Given the description of an element on the screen output the (x, y) to click on. 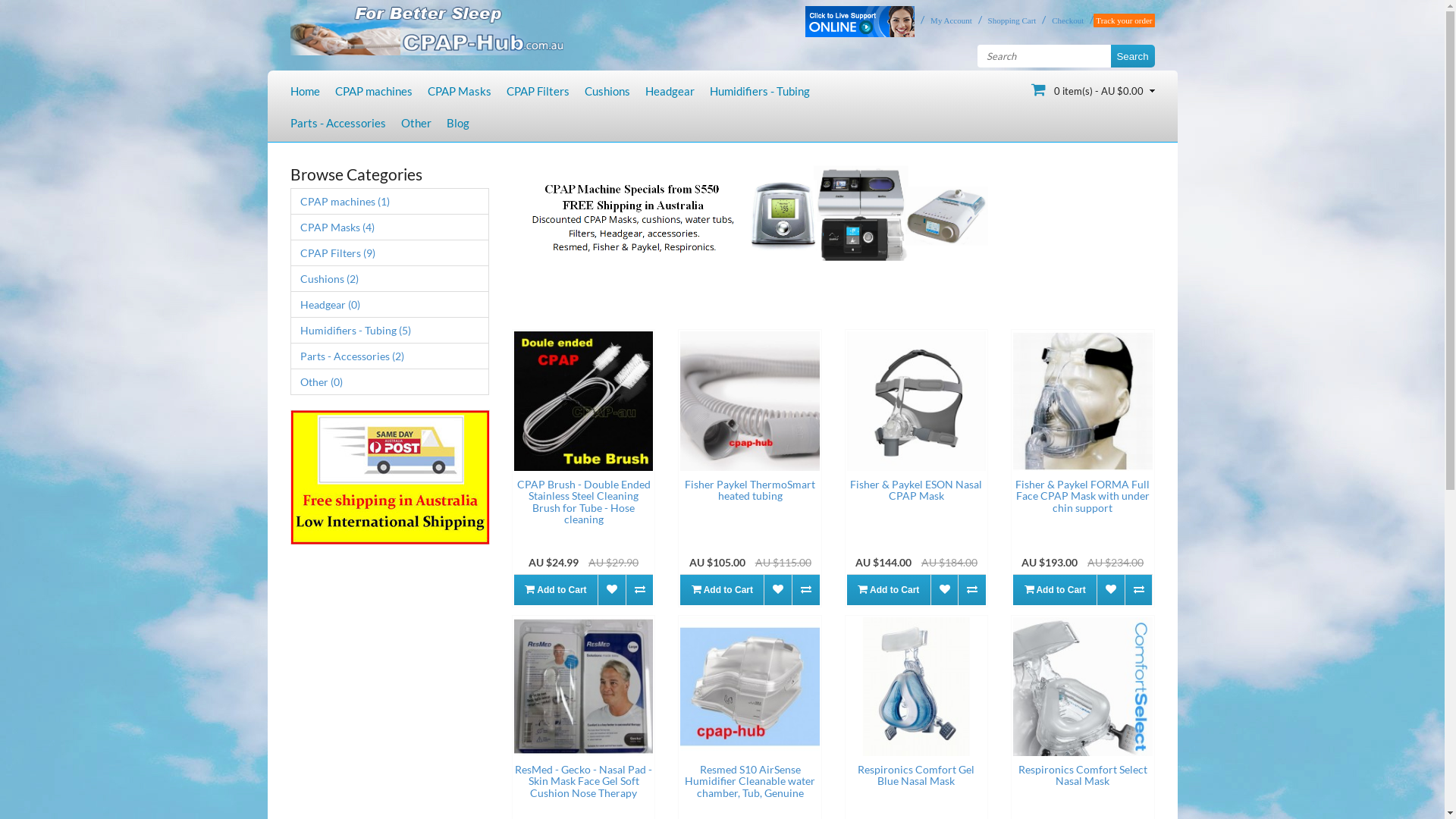
CPAP machines Element type: text (373, 90)
Track your order Element type: text (1123, 20)
Checkout Element type: text (1064, 20)
Fisher & Paykel ESON Nasal CPAP Mask Element type: text (916, 489)
Parts - Accessories (2) Element type: text (389, 355)
My Account Element type: text (947, 20)
CPAP Filters (9) Element type: text (389, 252)
0 item(s) - AU $0.00 Element type: text (1092, 89)
Other Element type: text (415, 122)
Headgear (0) Element type: text (389, 304)
Cpap-Hub Element type: hover (425, 27)
Humidifiers - Tubing (5) Element type: text (389, 329)
Respironics Comfort Gel Blue Nasal Mask Element type: hover (916, 686)
Add to Cart Element type: text (888, 589)
Fisher & Paykel ESON Nasal CPAP Mask Element type: hover (916, 400)
Add to Cart Element type: text (1054, 589)
Respironics Comfort Select Nasal Mask Element type: hover (1082, 686)
Respironics Comfort Gel Blue Nasal Mask Element type: text (915, 774)
Cushions (2) Element type: text (389, 278)
Parts - Accessories Element type: text (337, 122)
Add to Cart Element type: text (721, 589)
Respironics Comfort Select Nasal Mask Element type: text (1082, 774)
Shopping Cart Element type: text (1009, 20)
Headgear Element type: text (668, 90)
CPAP Filters Element type: text (537, 90)
CPAP machines (1) Element type: text (389, 201)
Other (0) Element type: text (389, 381)
CPAP Masks Element type: text (459, 90)
Blog Element type: text (456, 122)
Fisher  Paykel ThermoSmart heated tubing Element type: hover (749, 400)
Fisher Paykel ThermoSmart heated tubing Element type: text (749, 489)
Search Element type: text (1132, 55)
Add to Cart Element type: text (555, 589)
Cushions Element type: text (606, 90)
Humidifiers - Tubing Element type: text (759, 90)
CPAP Masks (4) Element type: text (389, 226)
Home Element type: text (304, 90)
